Given the description of an element on the screen output the (x, y) to click on. 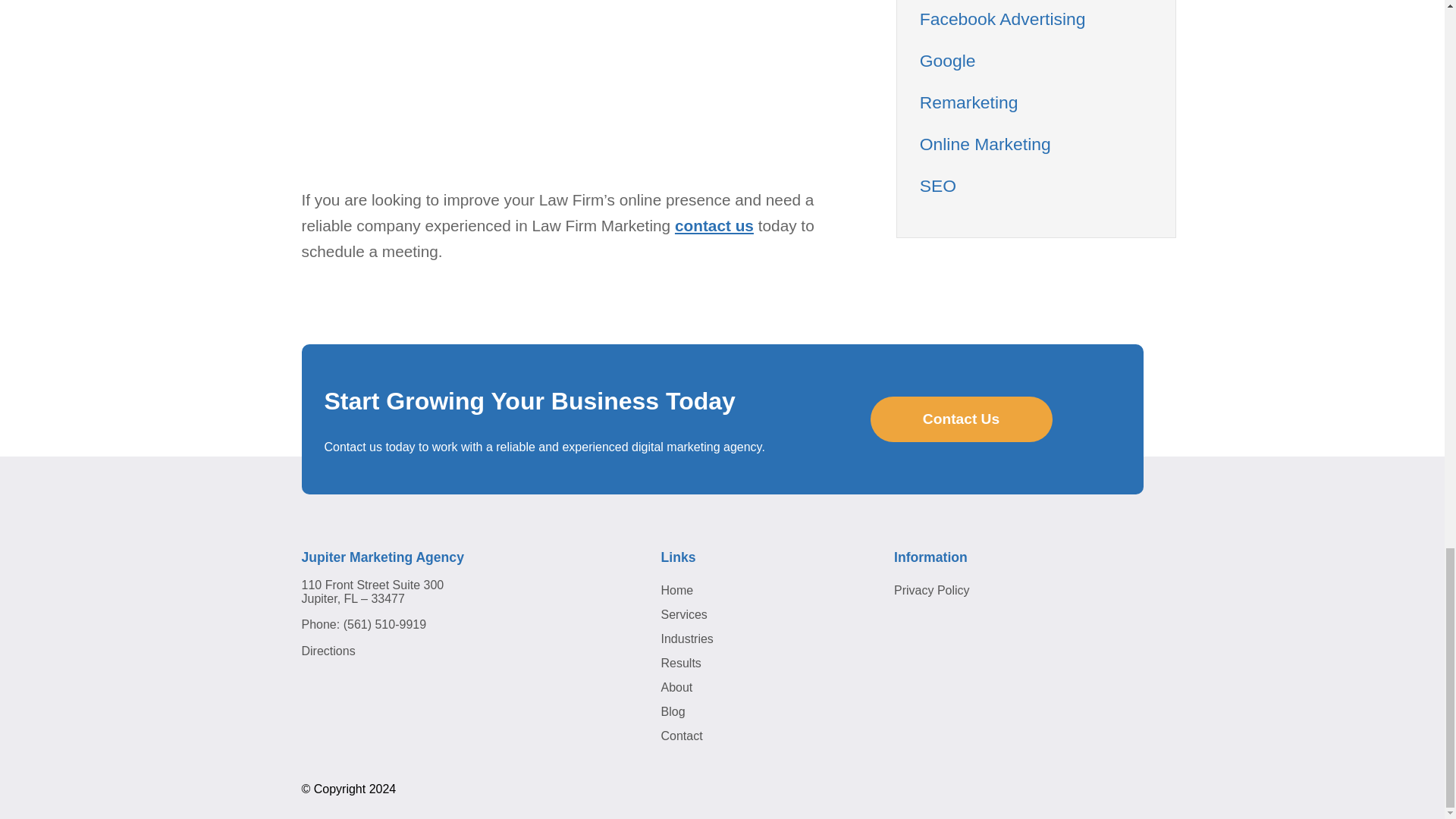
Home (677, 590)
Contact Us (961, 419)
Remarketing (968, 102)
Facebook Advertising (1003, 18)
SEO (938, 185)
contact us (714, 225)
Google (947, 60)
Directions (328, 650)
Online Marketing (985, 143)
Services (684, 614)
Results (681, 662)
Industries (687, 638)
